Given the description of an element on the screen output the (x, y) to click on. 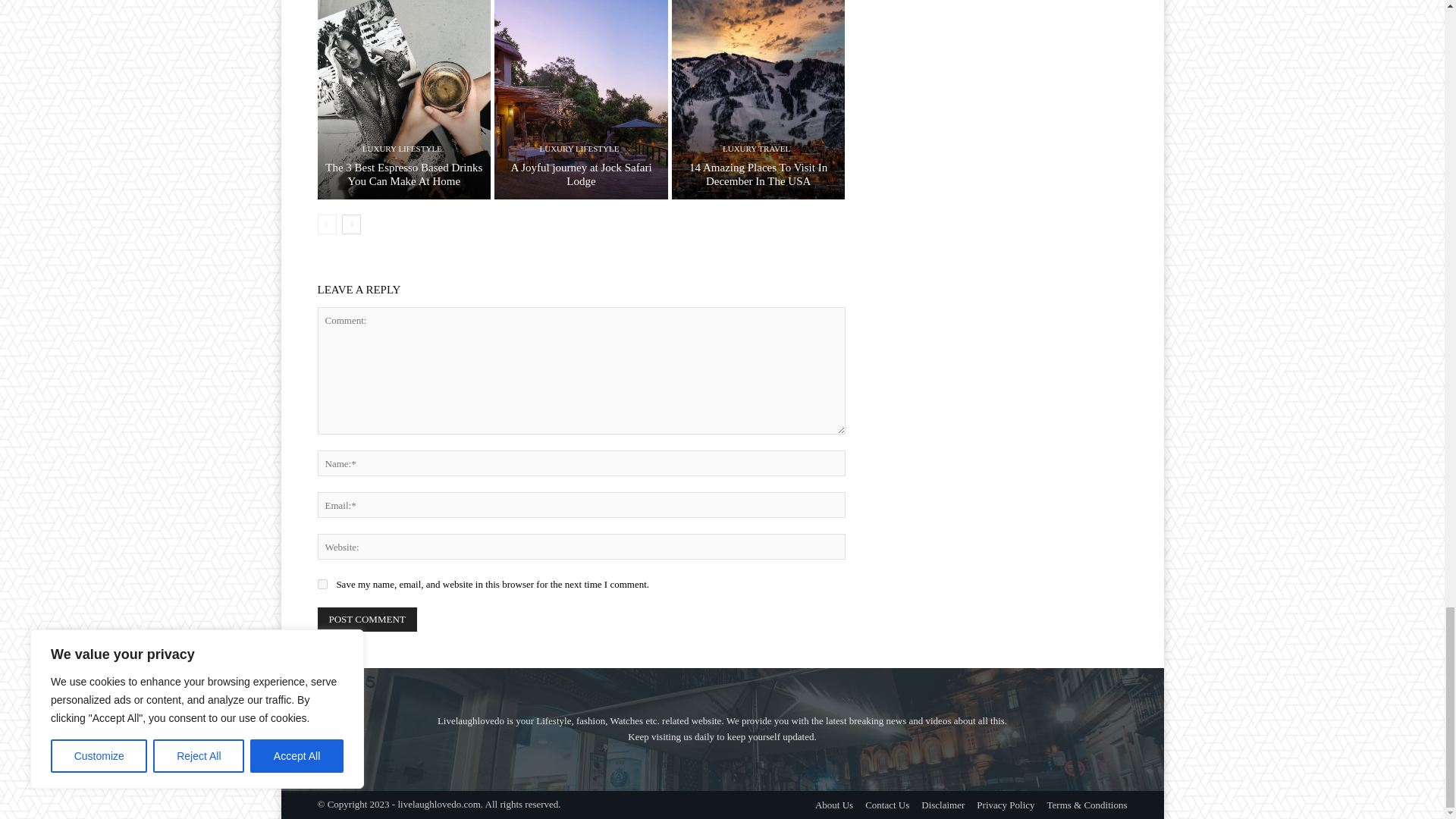
yes (321, 583)
Post Comment (366, 619)
